Given the description of an element on the screen output the (x, y) to click on. 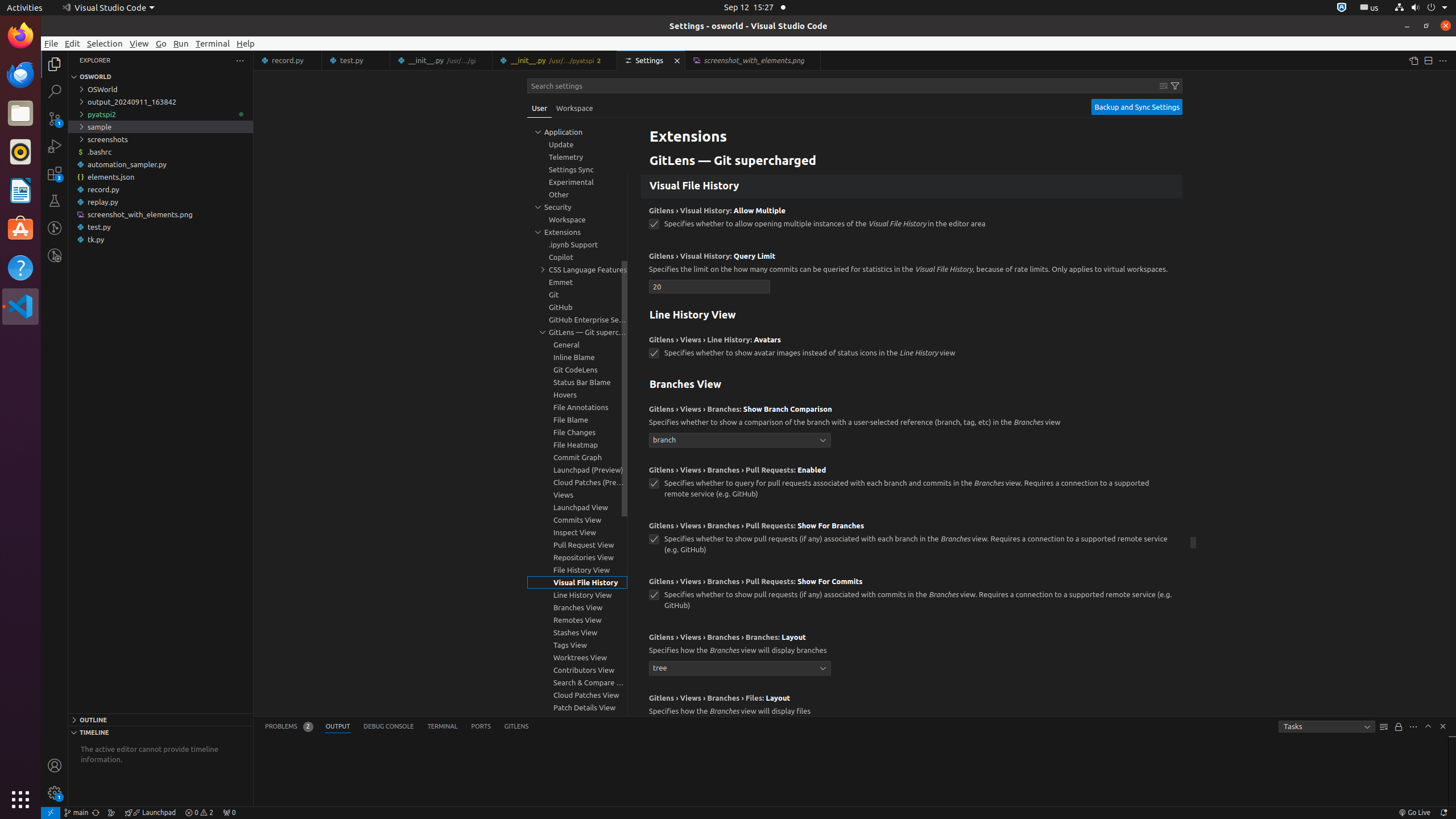
rocket gitlens-unplug Launchpad, GitLens Launchpad ᴘʀᴇᴠɪᴇᴡ    &mdash;    [$(question)](command:gitlens.launchpad.indicator.action?%22info%22 "What is this?") [$(gear)](command:workbench.action.openSettings?%22gitlens.launchpad%22 "Settings")  |  [$(circle-slash) Hide](command:gitlens.launchpad.indicator.action?%22hide%22 "Hide") --- [Launchpad](command:gitlens.launchpad.indicator.action?%info%22 "Learn about Launchpad") organizes your pull requests into actionable groups to help you focus and keep your team unblocked. It's always accessible using the `GitLens: Open Launchpad` command from the Command Palette. --- [Connect an integration](command:gitlens.showLaunchpad?%7B%22source%22%3A%22launchpad-indicator%22%7D "Connect an integration") to get started. Element type: push-button (150, 812)
Hovers, group Element type: tree-item (577, 394)
Git, group Element type: tree-item (577, 294)
Open Settings (JSON) Element type: push-button (1413, 60)
